Given the description of an element on the screen output the (x, y) to click on. 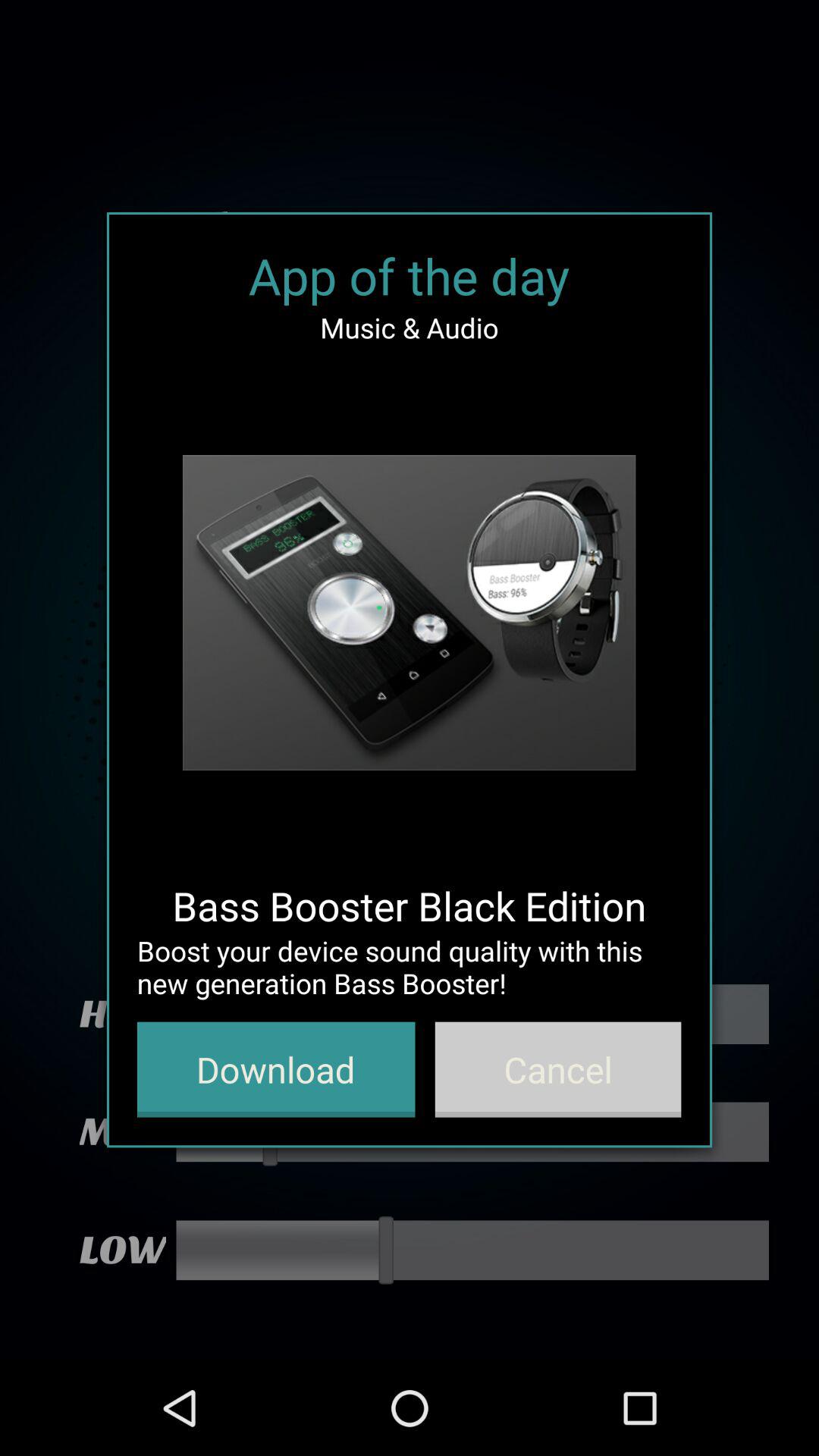
open the item at the bottom right corner (558, 1069)
